Given the description of an element on the screen output the (x, y) to click on. 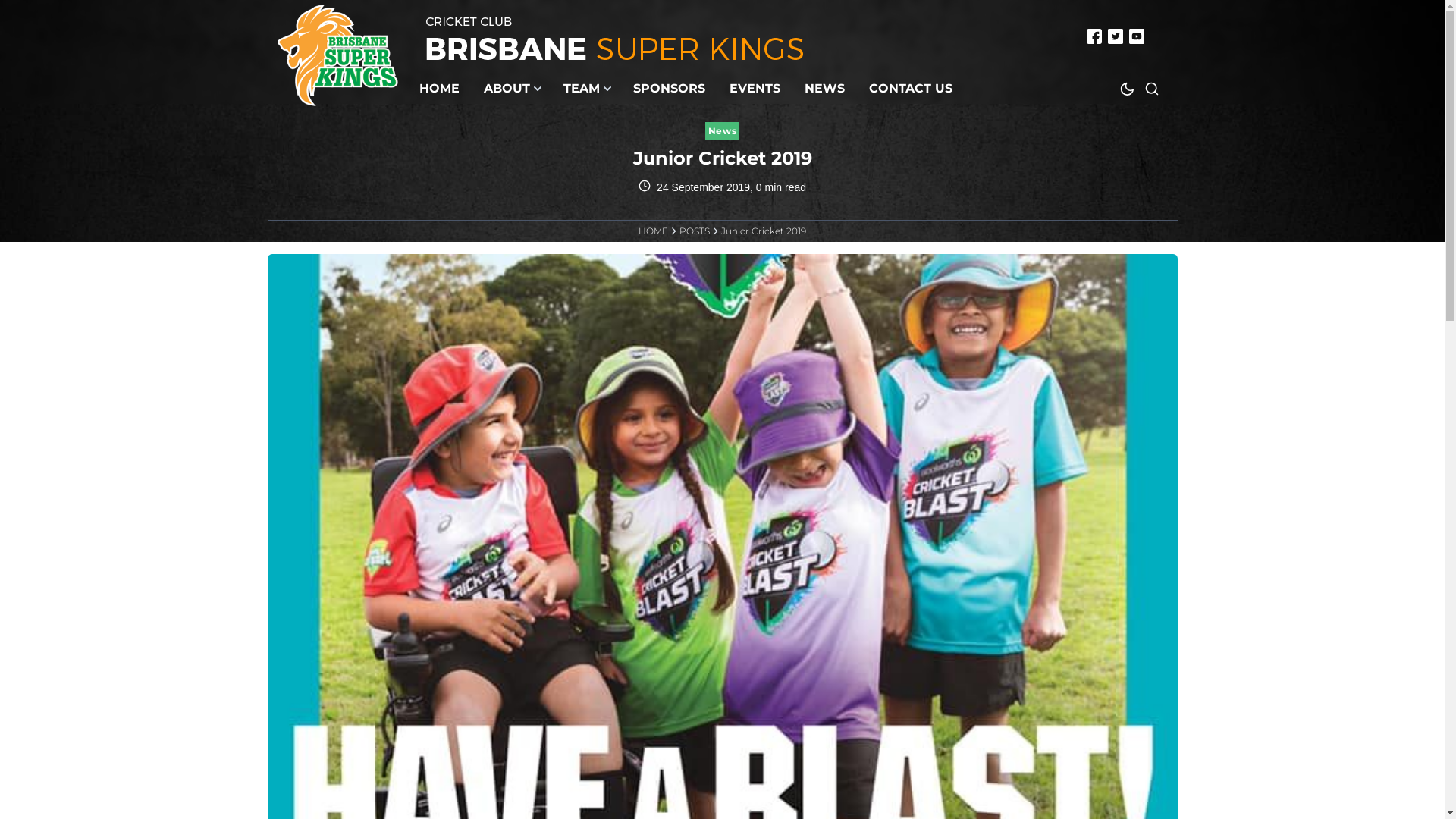
CONTACT US Element type: text (913, 88)
POSTS Element type: text (694, 230)
SPONSORS Element type: text (672, 88)
News Element type: text (722, 129)
HOME Element type: text (653, 230)
ABOUT Element type: text (514, 88)
EVENTS Element type: text (757, 88)
Toggle Darkmode Element type: hover (1127, 89)
TEAM Element type: text (589, 88)
Junior Cricket 2019 Element type: text (763, 230)
HOME Element type: text (442, 88)
NEWS Element type: text (827, 88)
